Given the description of an element on the screen output the (x, y) to click on. 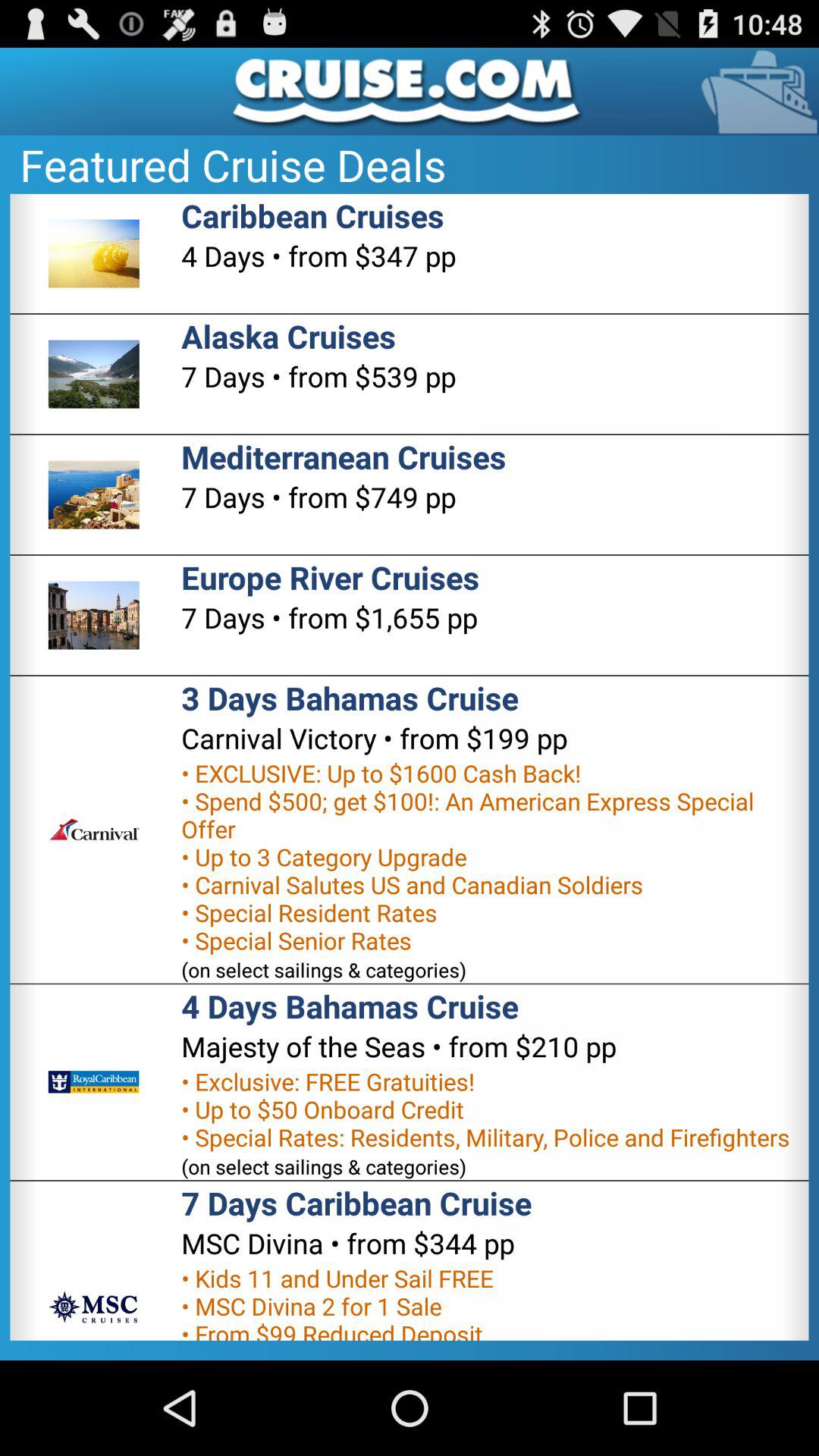
select the item above exclusive up to item (374, 738)
